Given the description of an element on the screen output the (x, y) to click on. 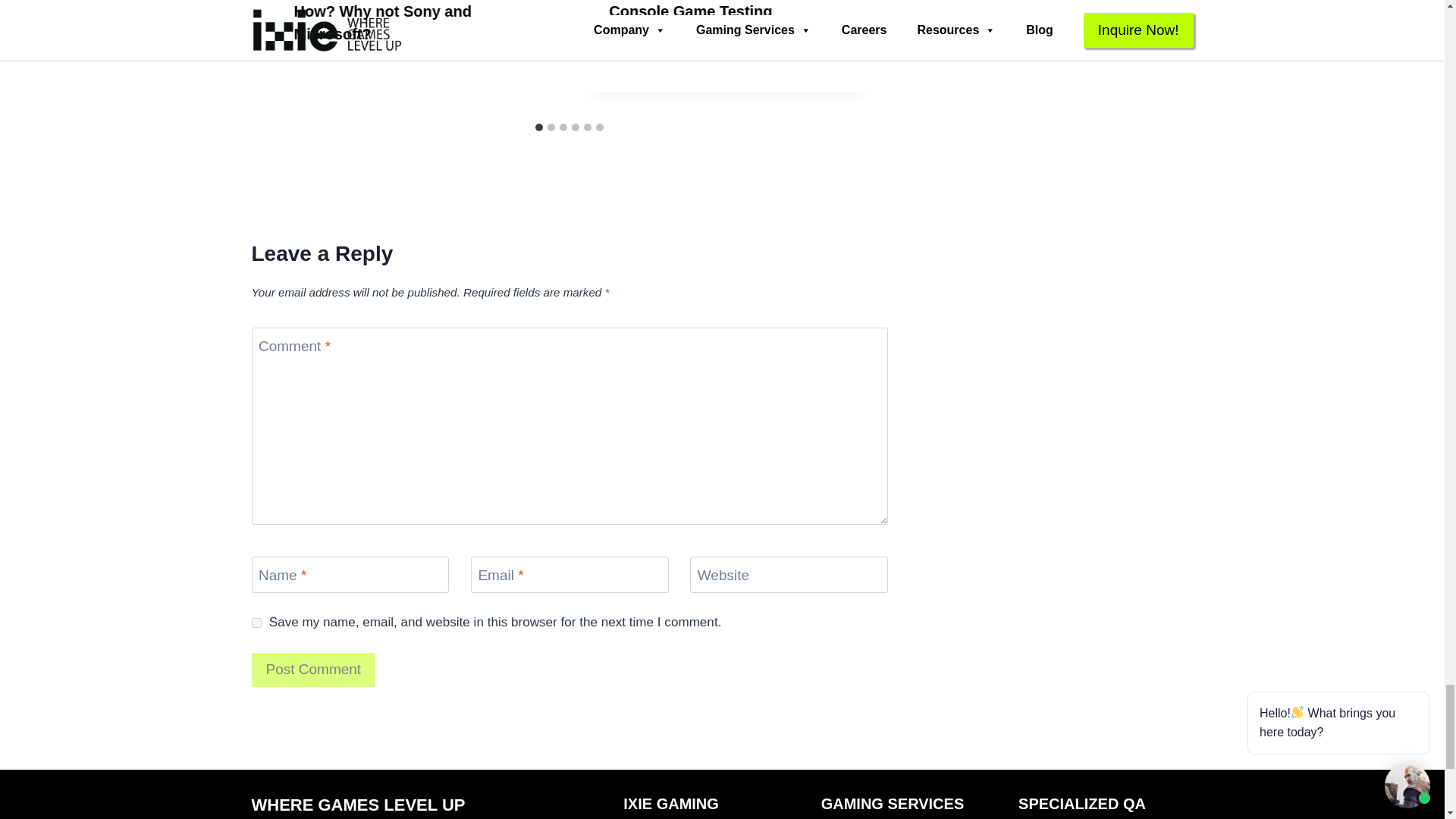
yes (256, 623)
Post Comment (313, 669)
